Given the description of an element on the screen output the (x, y) to click on. 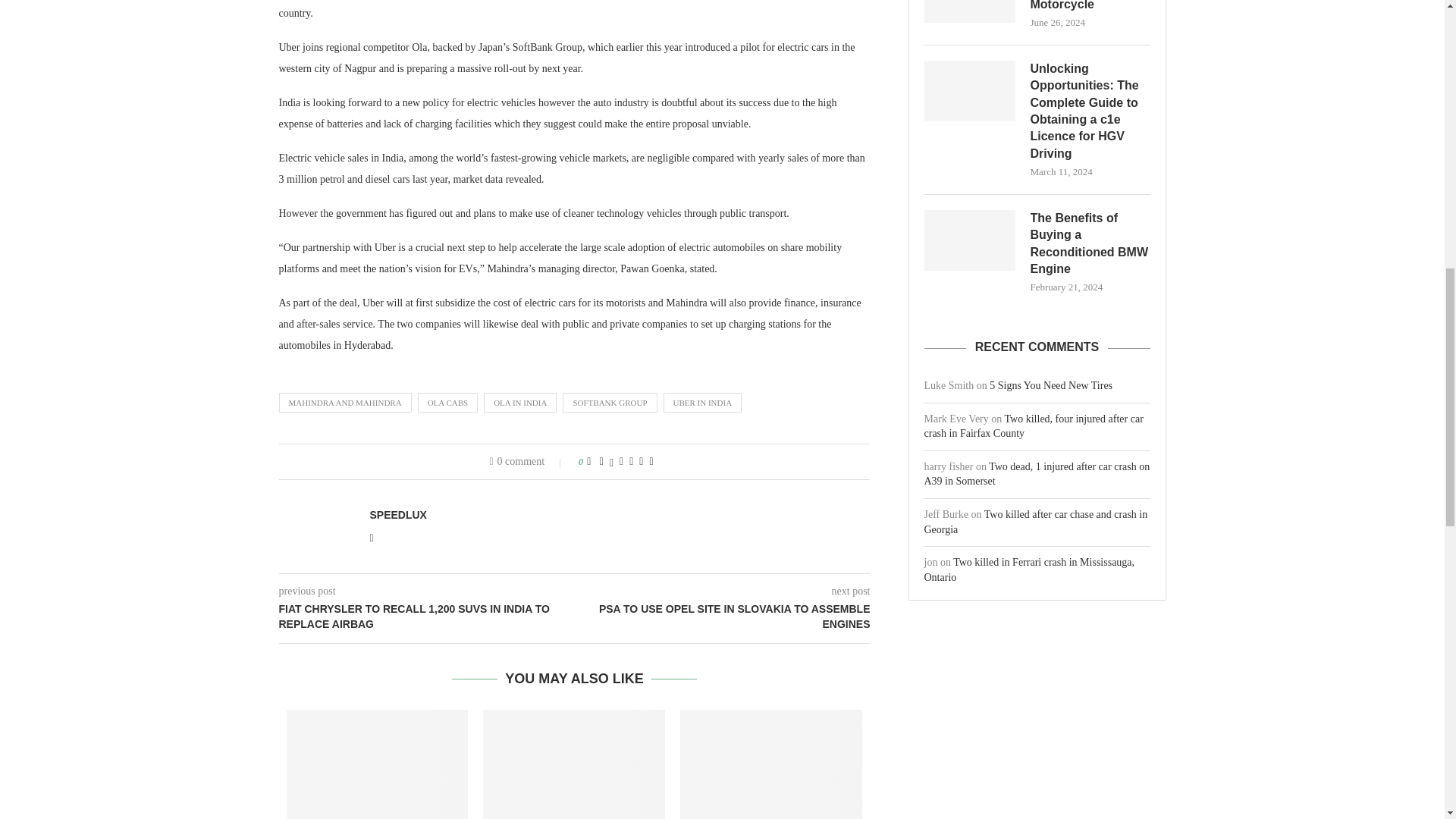
MAHINDRA AND MAHINDRA (345, 402)
OLA CABS (448, 402)
PSA TO USE OPEL SITE IN SLOVAKIA TO ASSEMBLE ENGINES (722, 616)
Author SpeedLux (397, 514)
SPEEDLUX (397, 514)
OLA IN INDIA (519, 402)
UBER IN INDIA (701, 402)
SOFTBANK GROUP (609, 402)
